Given the description of an element on the screen output the (x, y) to click on. 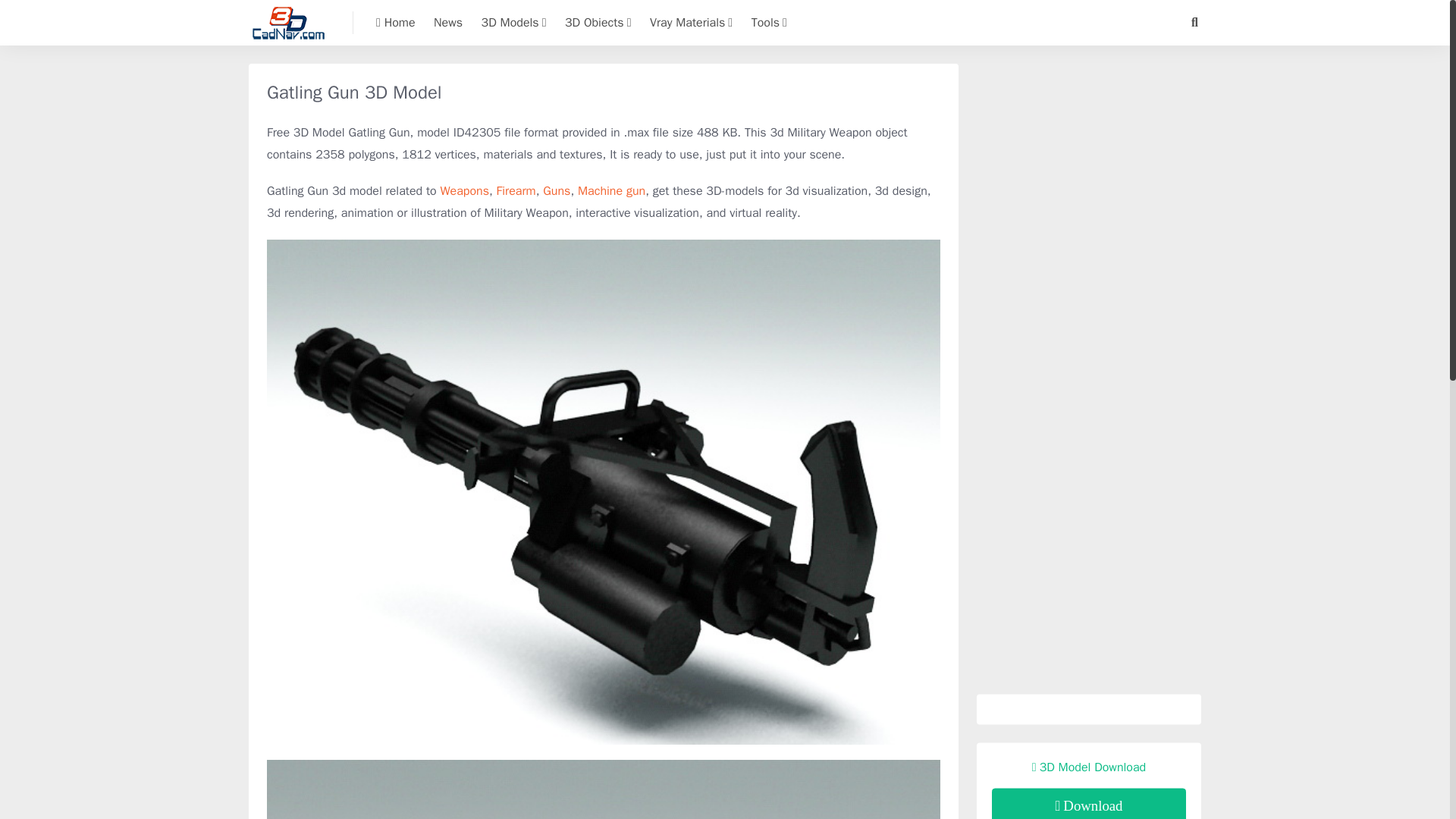
3D Obiects (597, 22)
Weapons 3d model (464, 191)
News (448, 22)
Home (394, 22)
Guns 3d model (556, 191)
search (1194, 22)
3D Models (514, 22)
Machine gun 3d model (611, 191)
Firearm 3d model (515, 191)
download Gatling Gun 3d model (1088, 803)
